Given the description of an element on the screen output the (x, y) to click on. 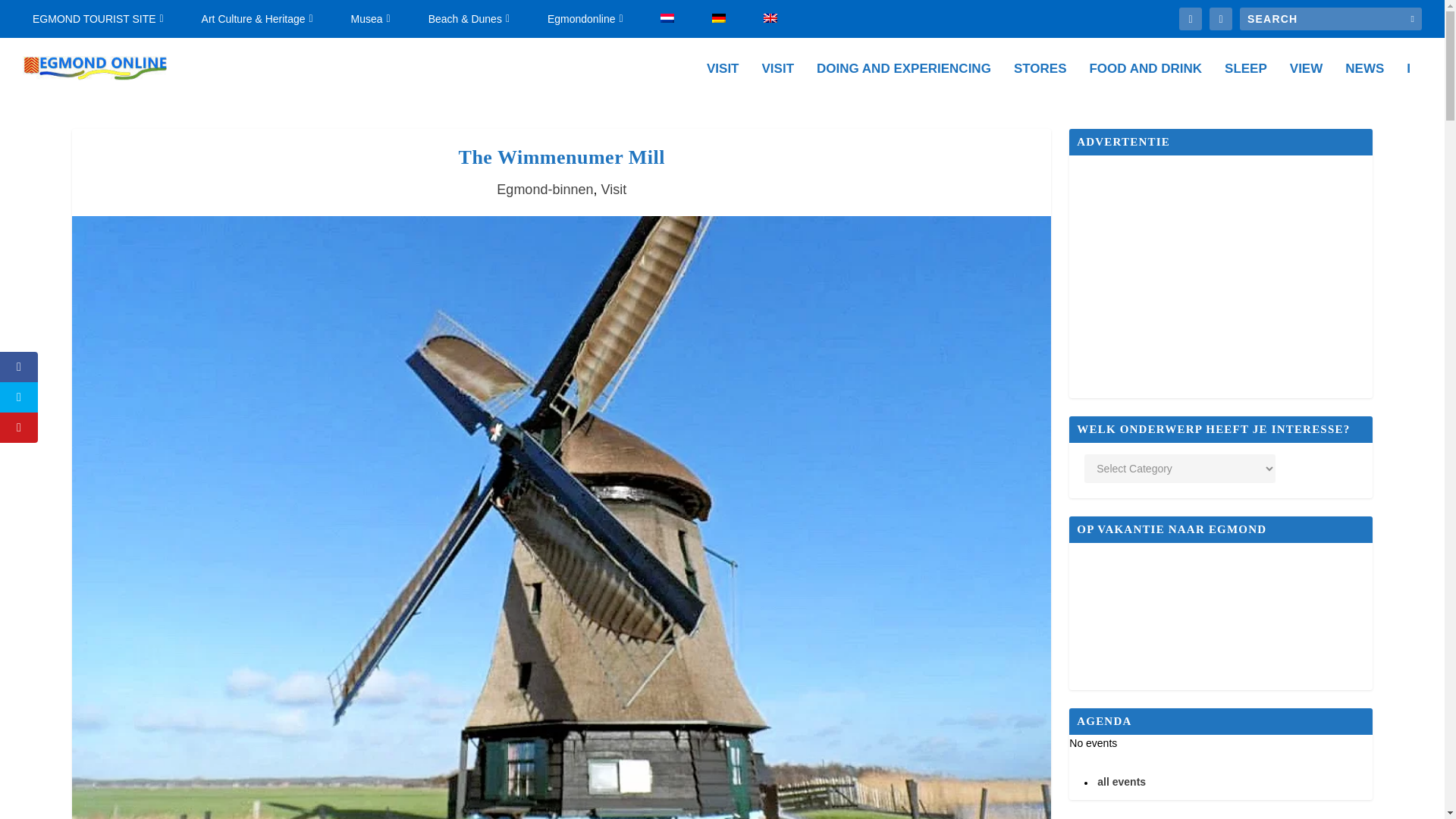
Musea (370, 18)
Egmondonline (584, 18)
Search for: (1331, 18)
EGMOND TOURIST SITE (98, 18)
